Given the description of an element on the screen output the (x, y) to click on. 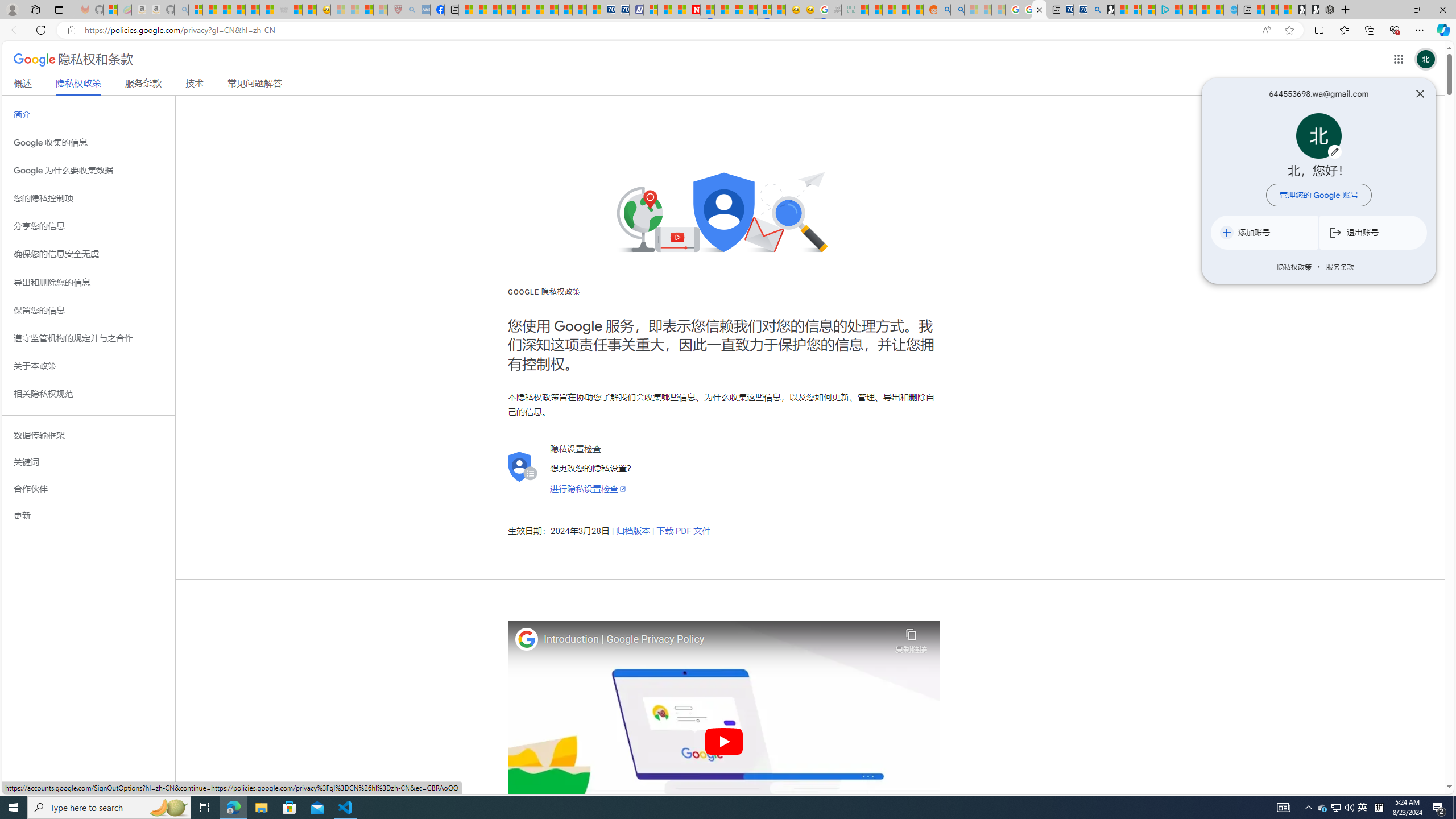
Class: aFCkf NMm5M (1226, 232)
Climate Damage Becomes Too Severe To Reverse (507, 9)
Cheap Car Rentals - Save70.com (1080, 9)
